Given the description of an element on the screen output the (x, y) to click on. 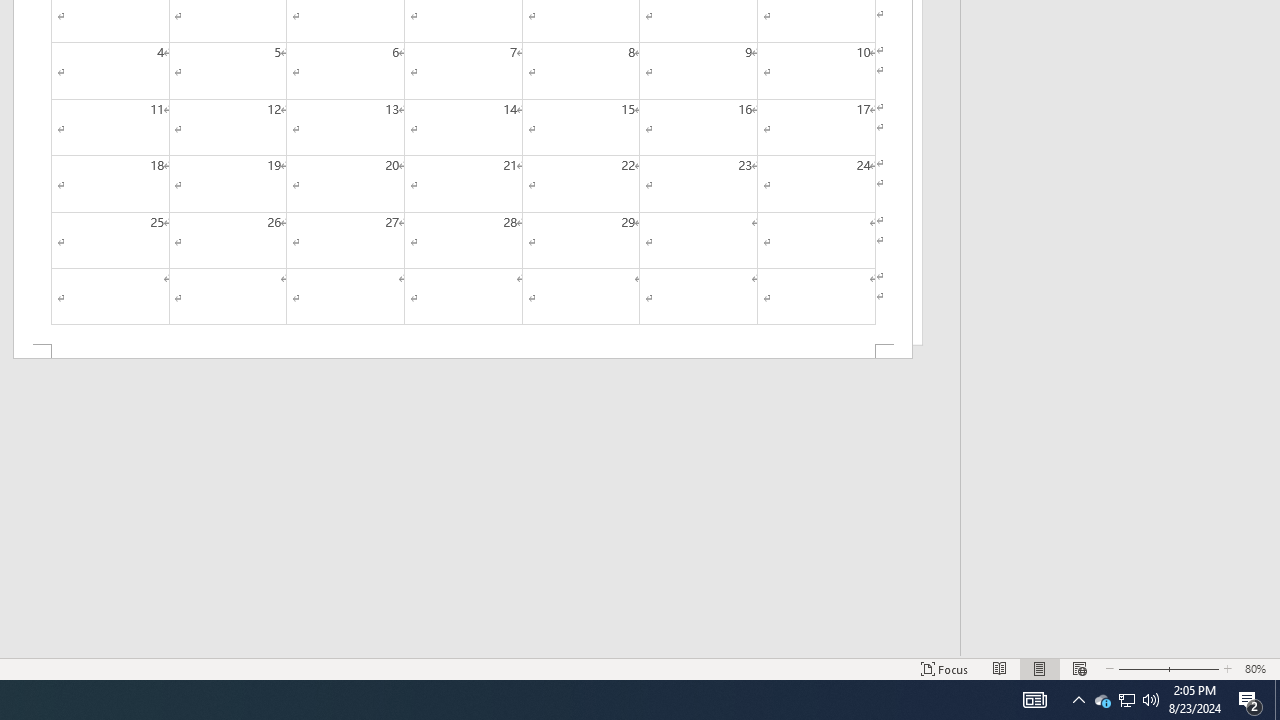
Footer -Section 2- (462, 351)
AutomationID: 4105 (1034, 699)
User Promoted Notification Area (1126, 699)
